Given the description of an element on the screen output the (x, y) to click on. 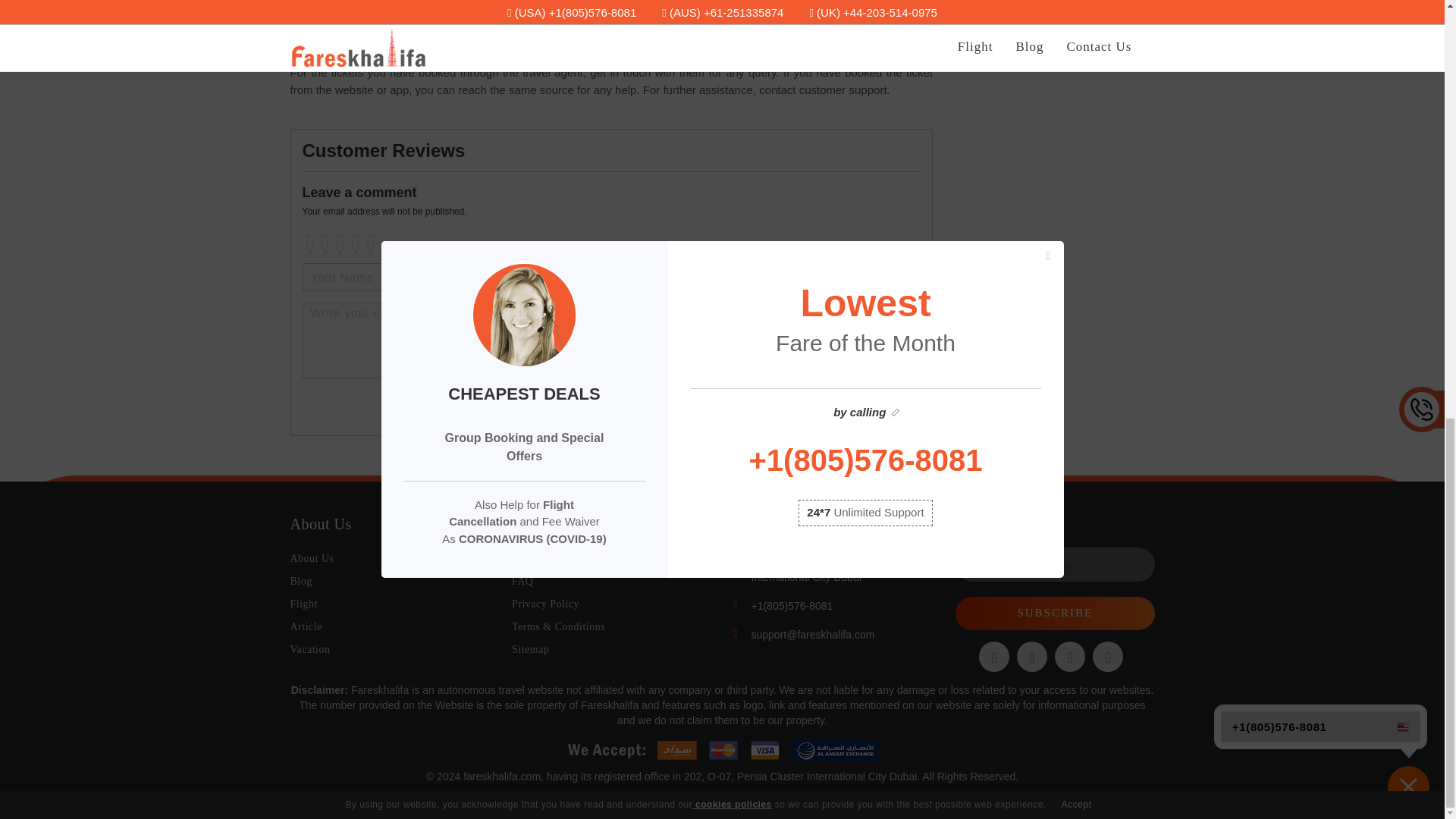
Subscribe (1054, 613)
About Us (311, 558)
Flight (303, 603)
Article (305, 626)
Vacation (309, 649)
Submit (883, 406)
Blog (300, 581)
